Given the description of an element on the screen output the (x, y) to click on. 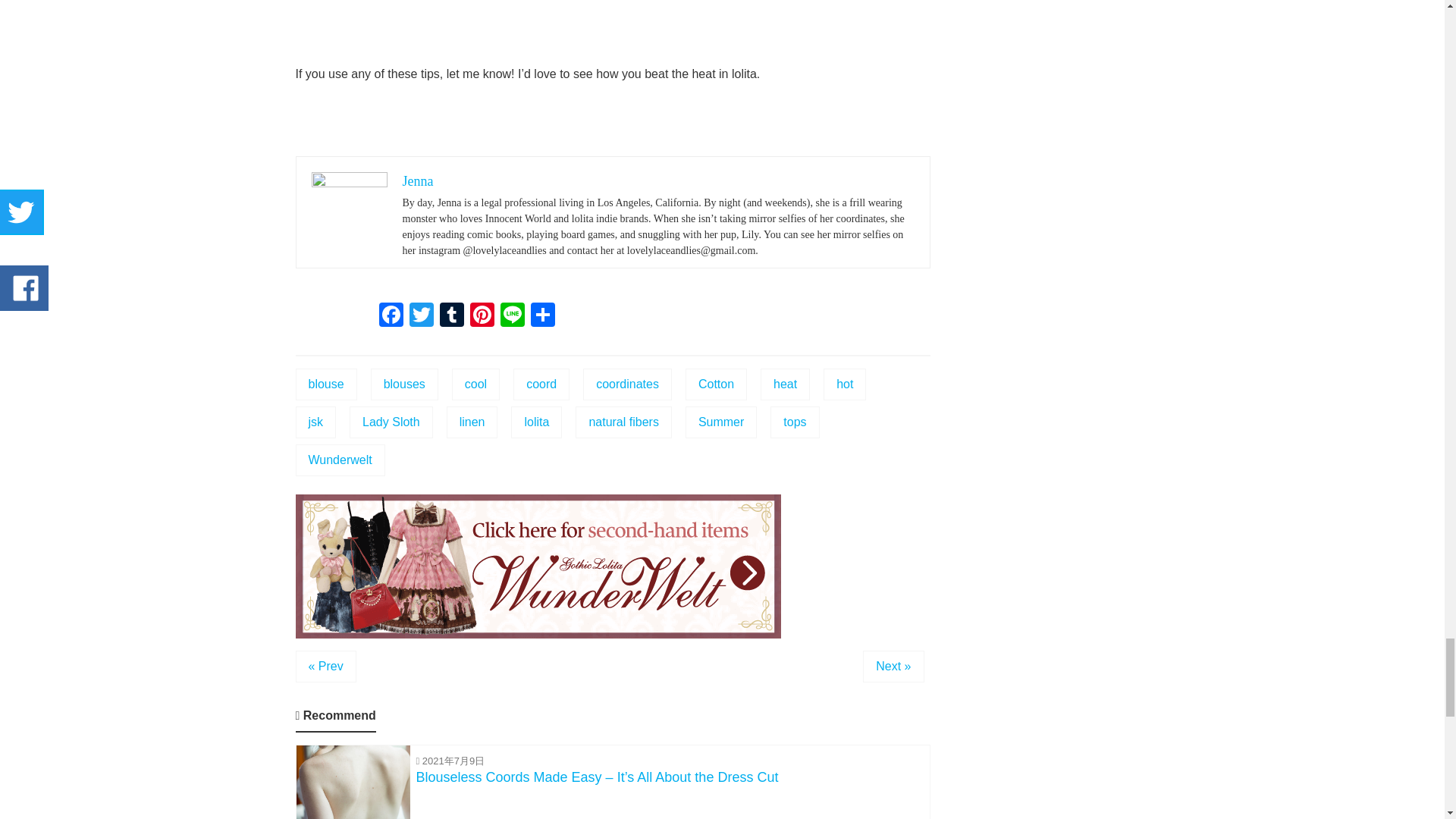
How to Organise a Big Meetup or Event? (325, 666)
Twitter (421, 316)
Facebook (390, 316)
Pinterest (482, 316)
Tumblr (451, 316)
Line (512, 316)
